Given the description of an element on the screen output the (x, y) to click on. 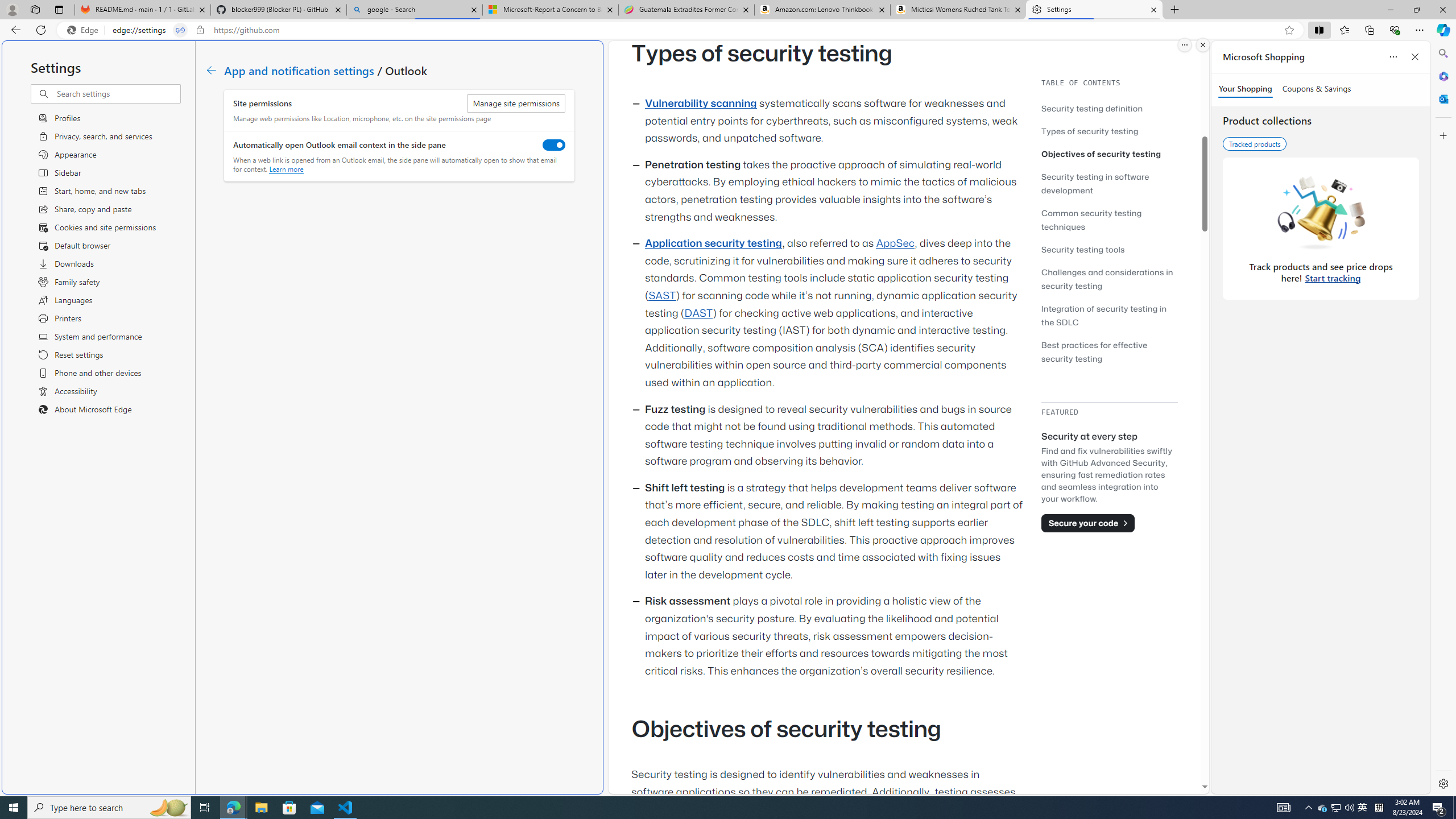
Close split screen. (1202, 45)
Microsoft-Report a Concern to Bing (550, 9)
Security testing in software development (1094, 182)
Search settings (117, 93)
Vulnerability scanning (701, 103)
Objectives of security testing (1109, 153)
DAST (698, 312)
Manage site permissions (515, 103)
Application security testing (713, 243)
